Given the description of an element on the screen output the (x, y) to click on. 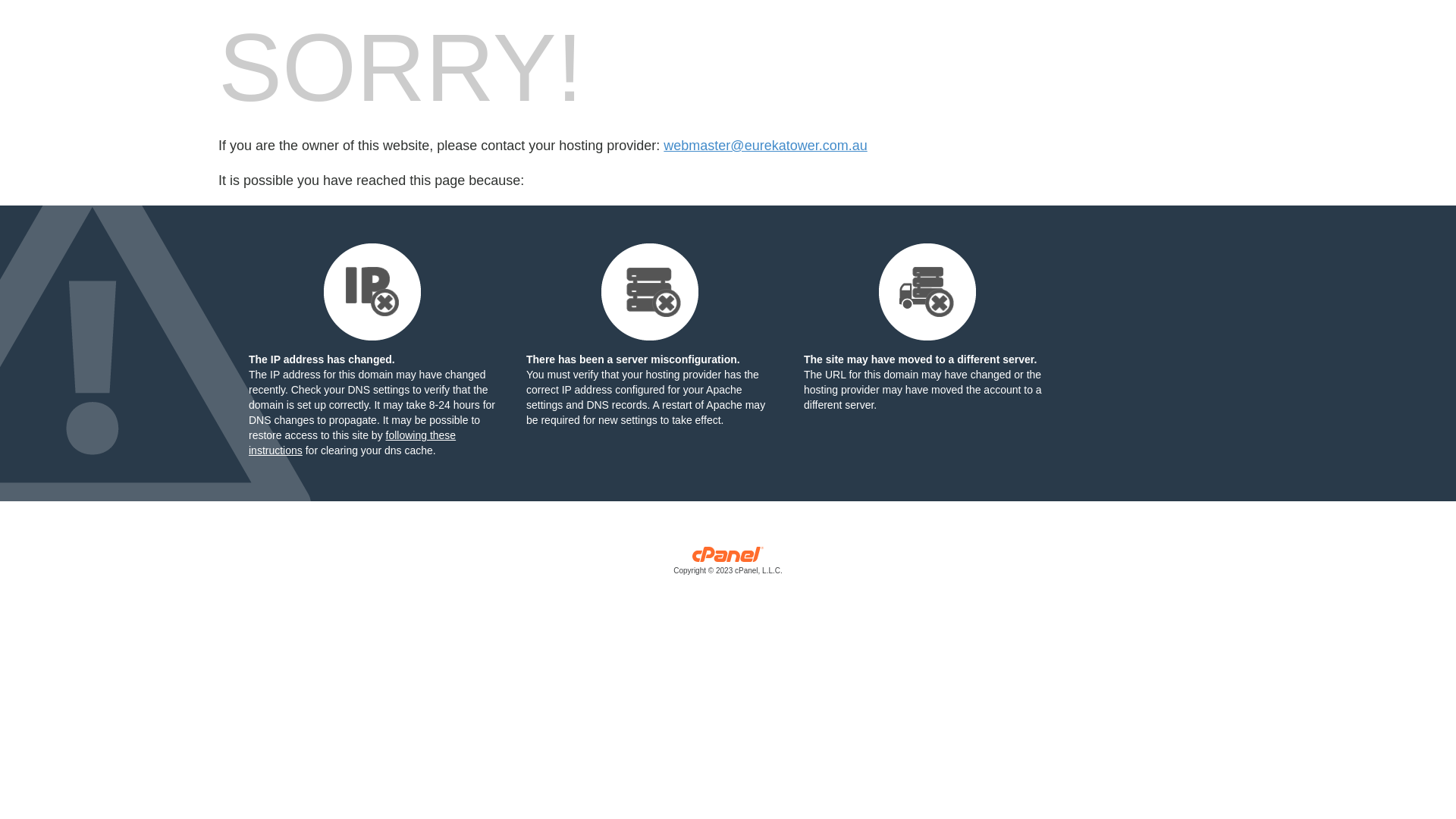
webmaster@eurekatower.com.au Element type: text (764, 145)
following these instructions Element type: text (351, 442)
